Given the description of an element on the screen output the (x, y) to click on. 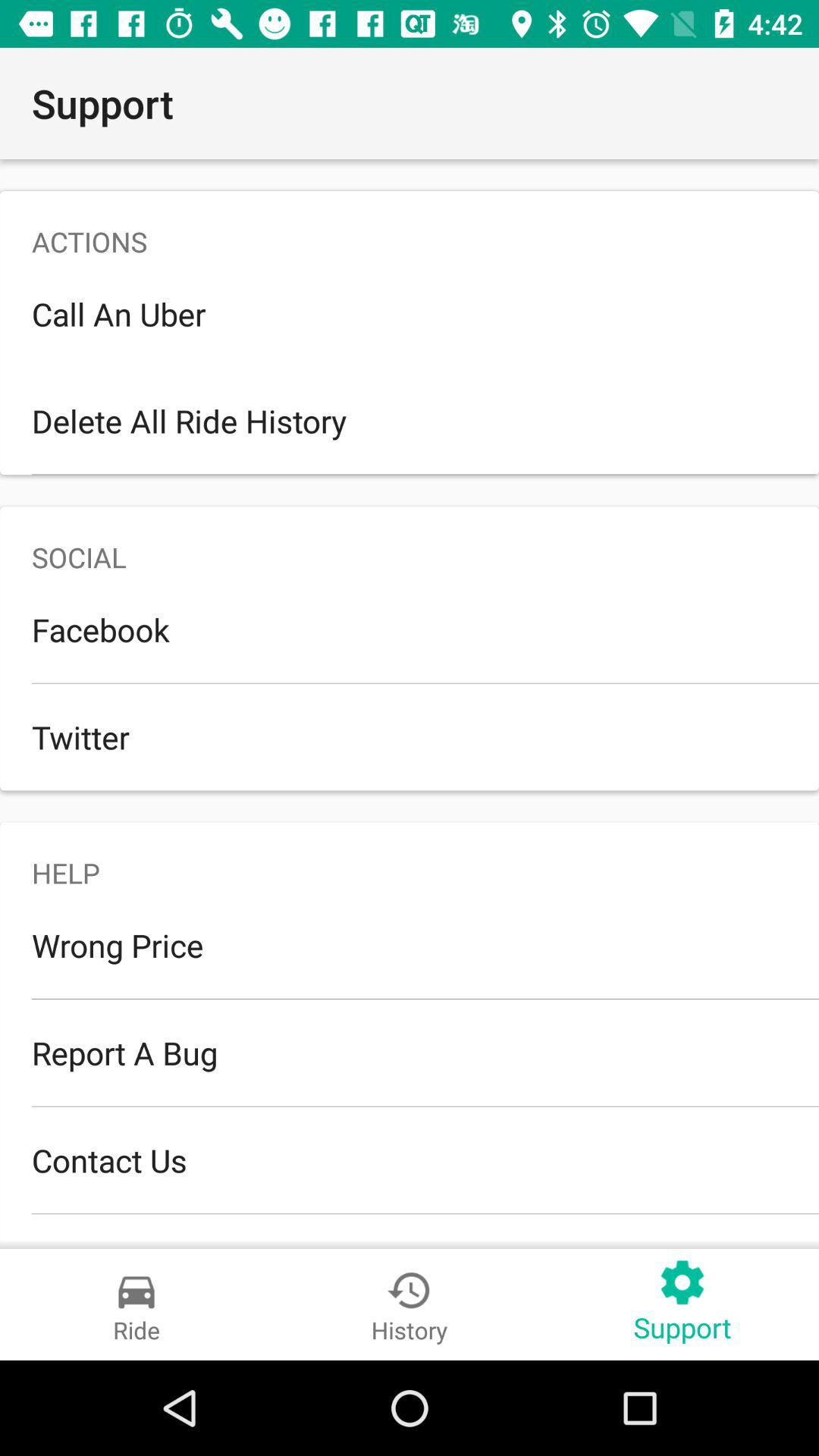
tap the item below the report a bug (409, 1159)
